Given the description of an element on the screen output the (x, y) to click on. 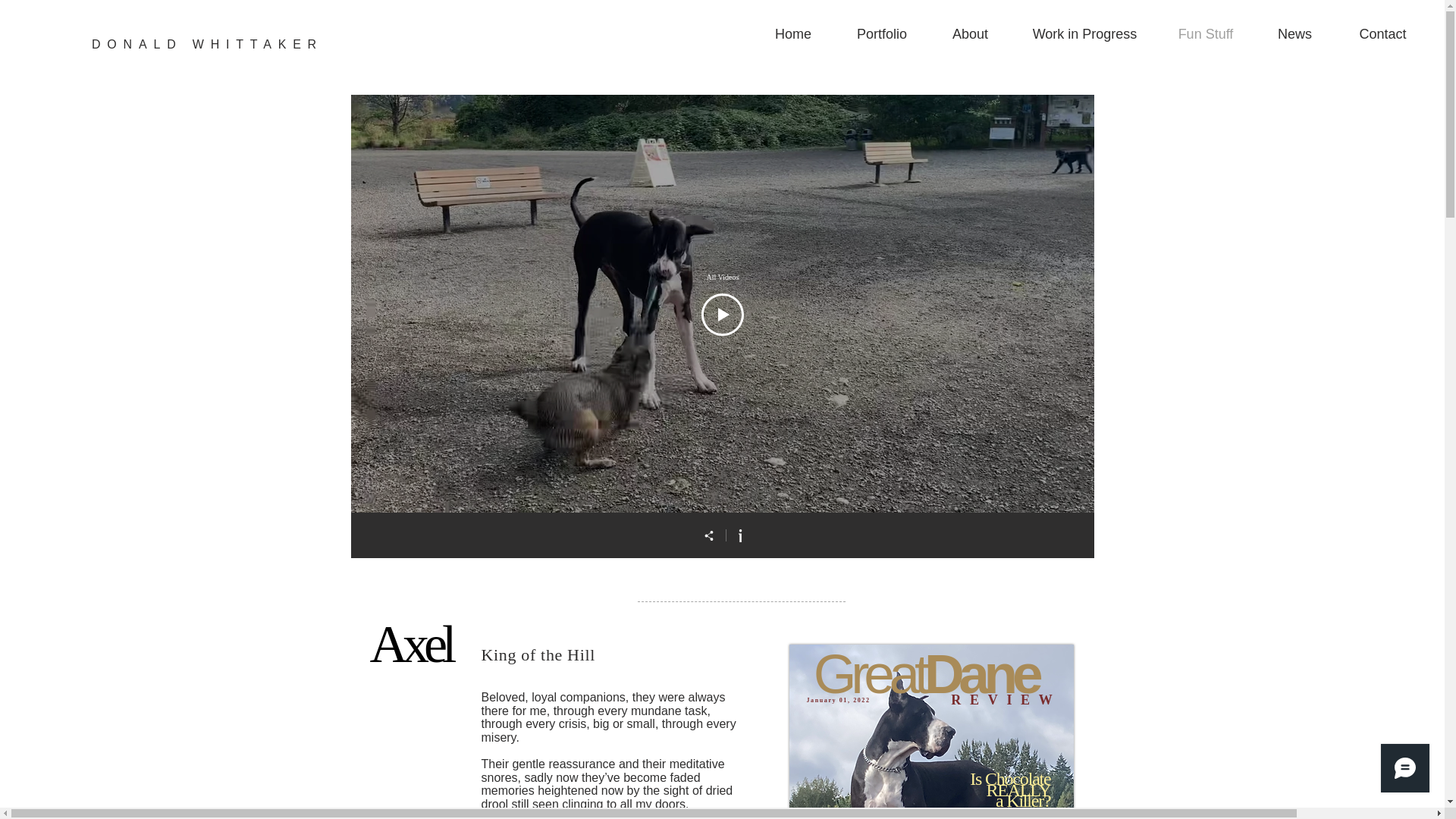
About (969, 34)
Fun Stuff (853, 575)
Axel never bores of playing tug-O-War (1323, 557)
Wix Chat (1408, 771)
Axel (410, 644)
Work in Progress (1084, 34)
News (1294, 34)
Portfolio (881, 34)
Home (792, 34)
DONALD WHITTAKER (207, 43)
